Given the description of an element on the screen output the (x, y) to click on. 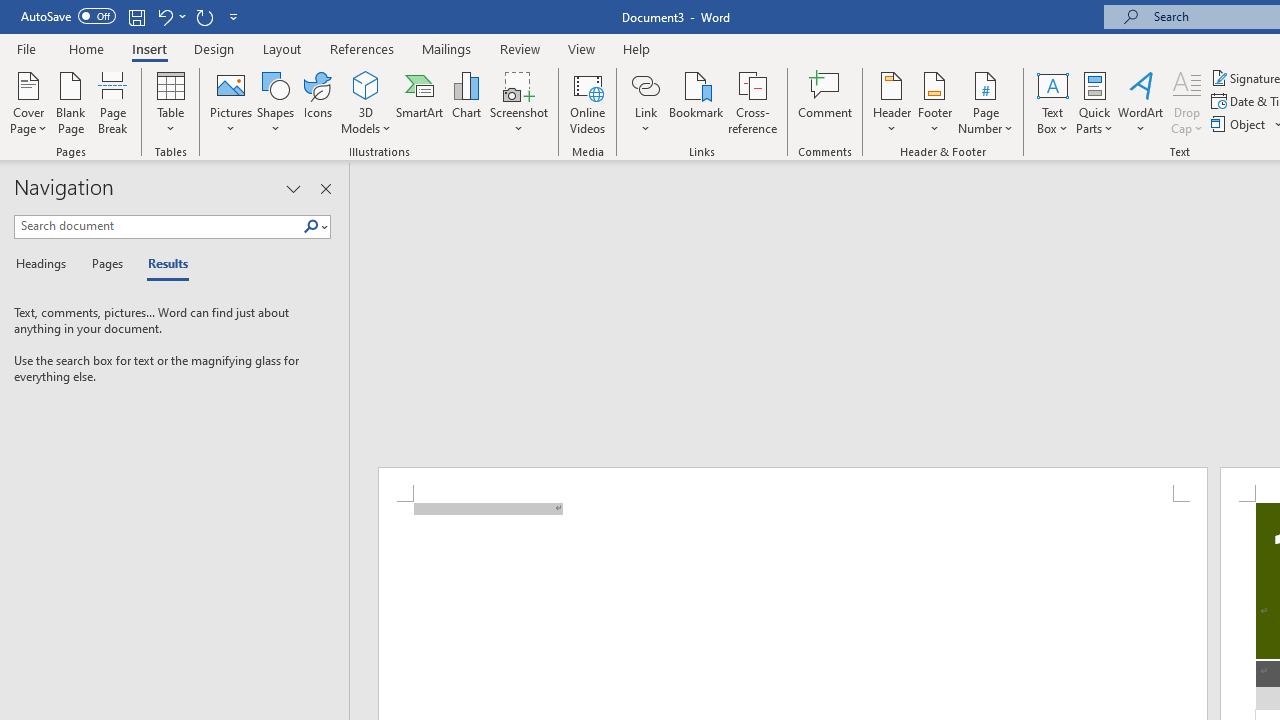
Pictures (230, 102)
WordArt (1141, 102)
Drop Cap (1187, 102)
Link (645, 84)
SmartArt... (419, 102)
Link (645, 102)
Screenshot (518, 102)
